Given the description of an element on the screen output the (x, y) to click on. 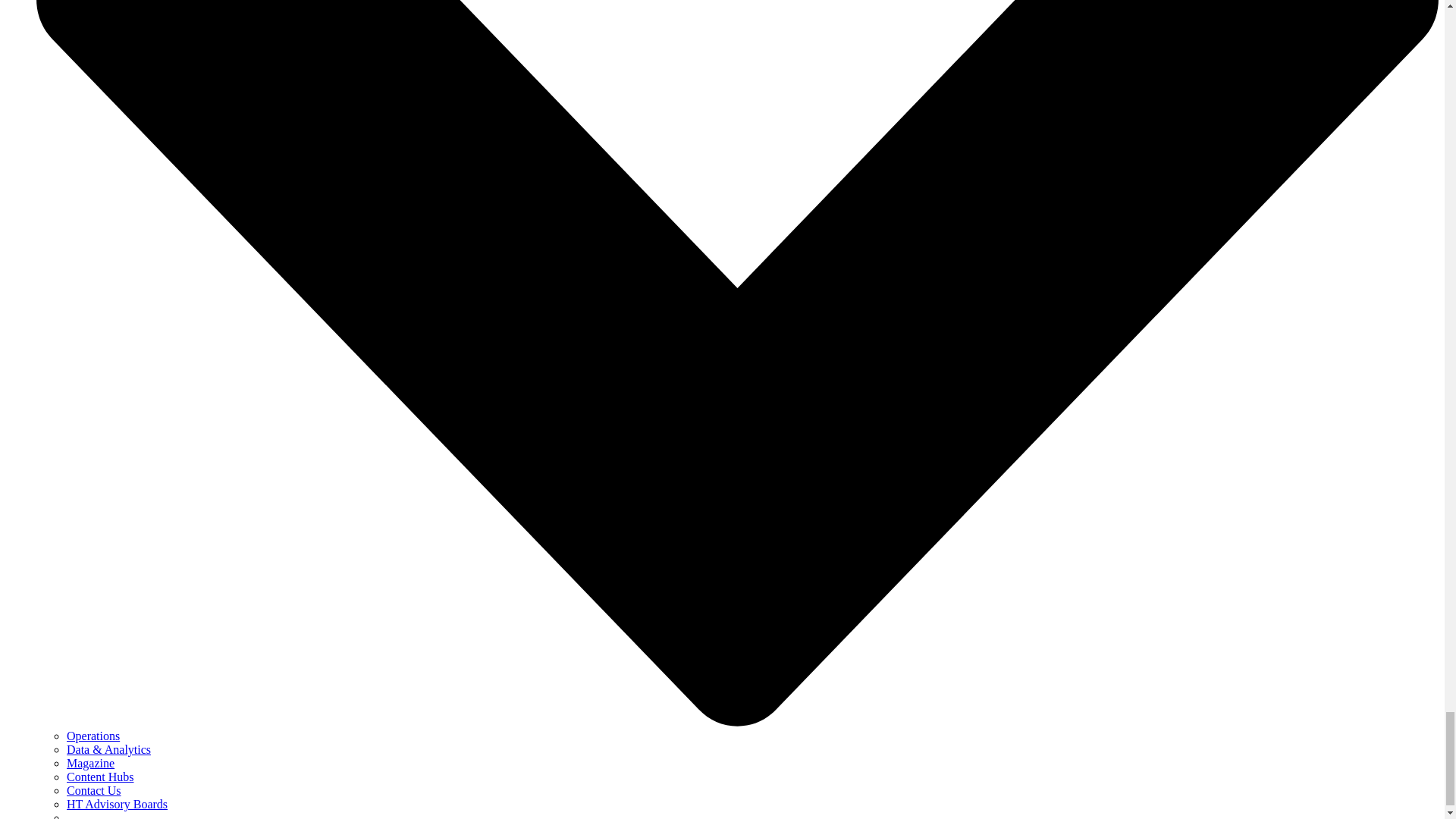
Contact Us (93, 789)
Content Hubs (99, 776)
Operations (92, 735)
Magazine (90, 762)
HT Advisory Boards (116, 803)
